Given the description of an element on the screen output the (x, y) to click on. 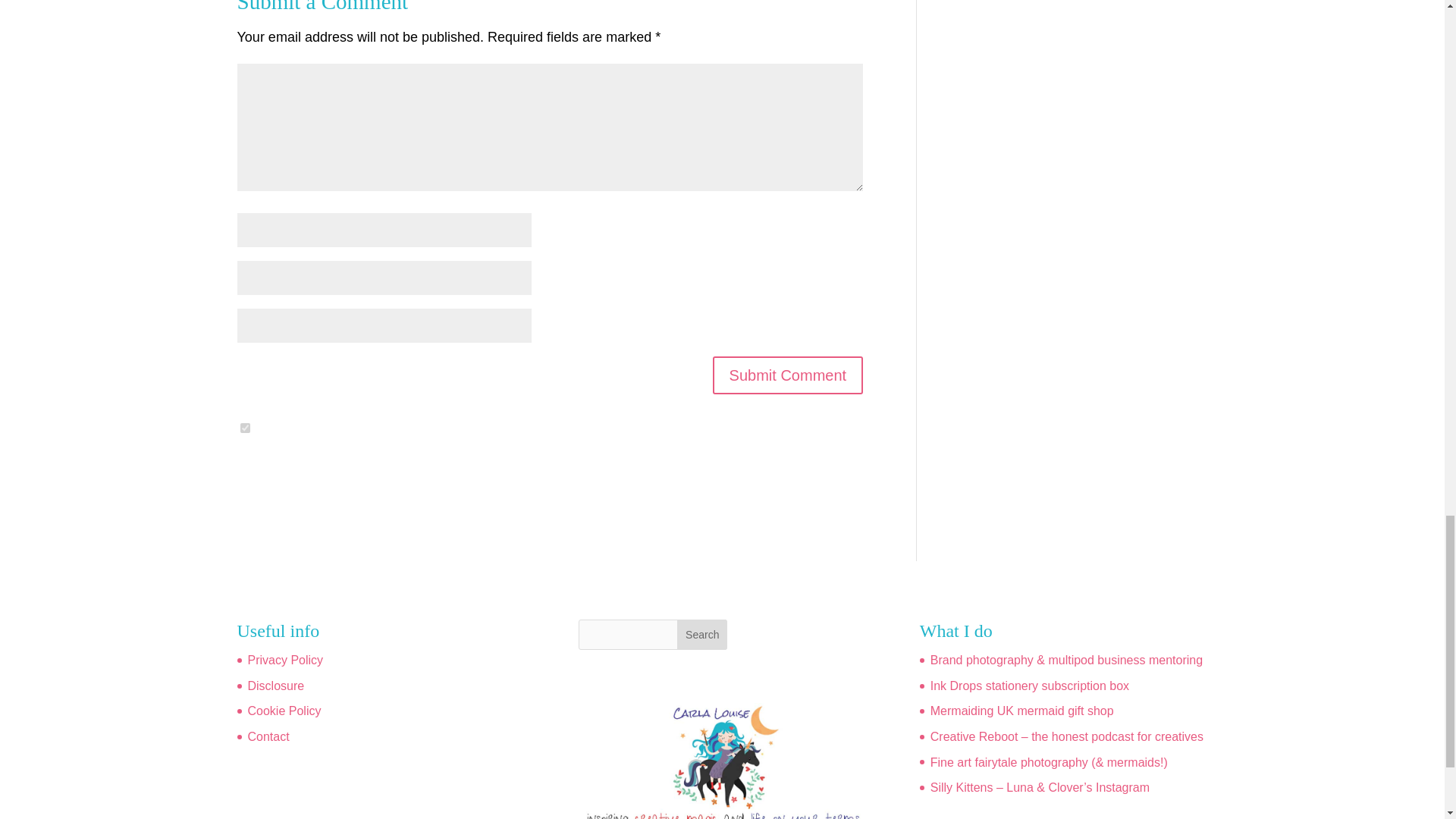
Submit Comment (788, 374)
Submit Comment (788, 374)
on (244, 428)
